Given the description of an element on the screen output the (x, y) to click on. 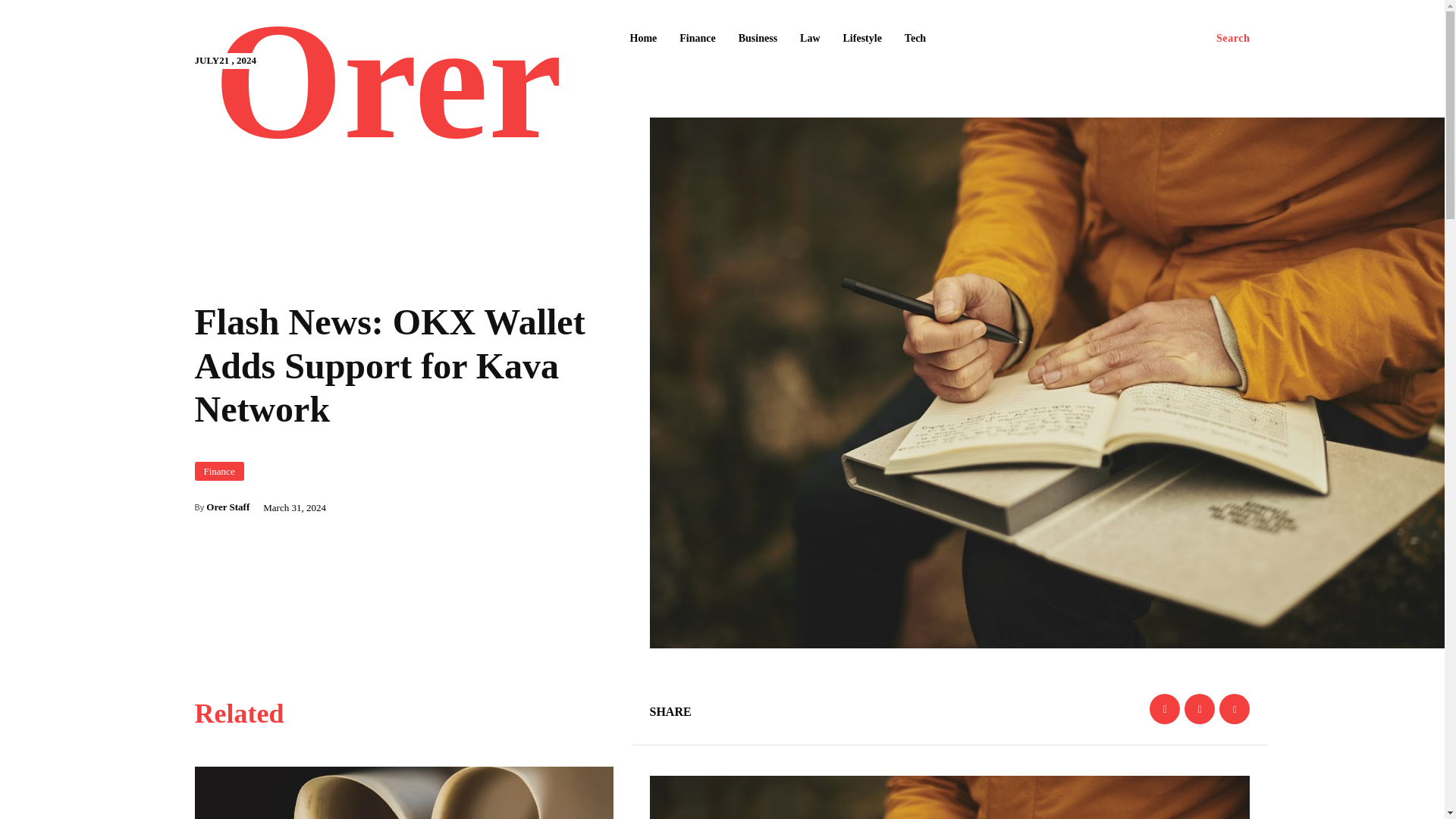
Orer news (388, 90)
Lifestyle (862, 38)
Home (642, 38)
Finance (696, 38)
Law (809, 38)
Tech (914, 38)
Orer (388, 90)
Orer Staff (227, 506)
Finance (218, 470)
Business (757, 38)
Search (1232, 38)
